Given the description of an element on the screen output the (x, y) to click on. 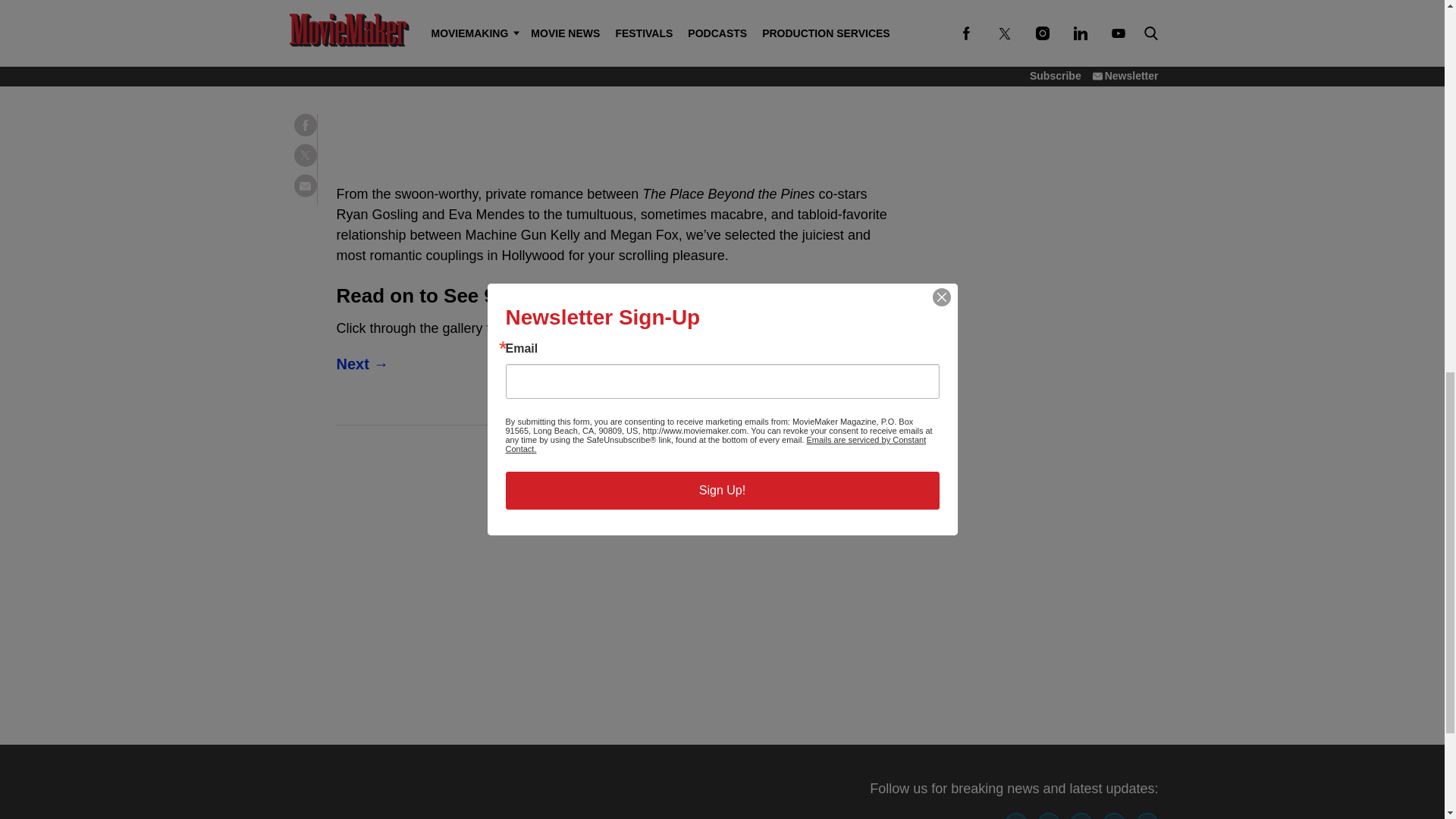
Follow us on Twitter (1047, 816)
Subscribe to our YouTube channel (1113, 816)
Follow us on Instagram (1081, 816)
Follow us on Facebook (1015, 816)
3rd party ad content (615, 584)
3rd party ad content (615, 70)
Connect with us on LinkedIn (1146, 816)
